Given the description of an element on the screen output the (x, y) to click on. 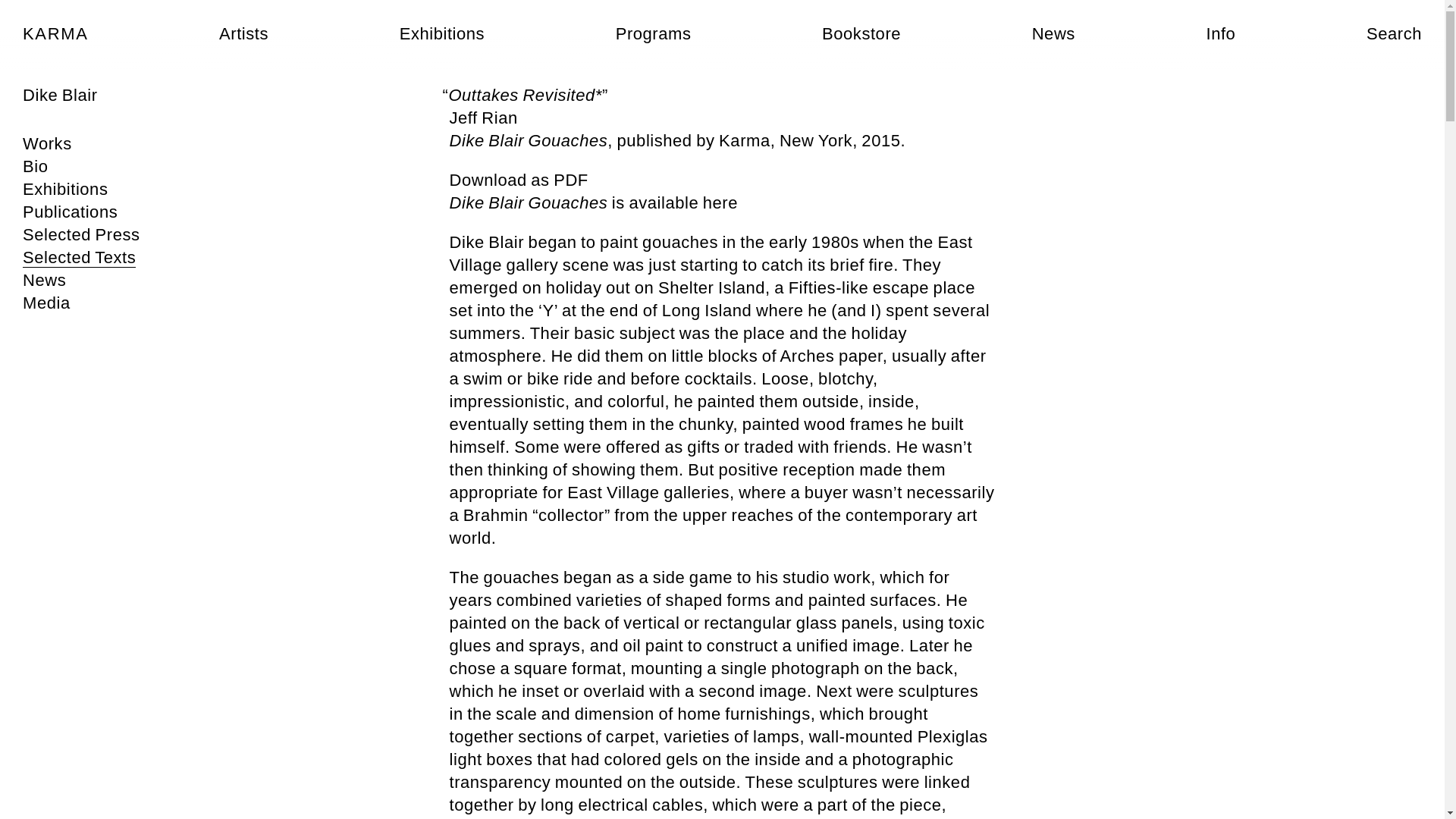
Dike Blair Gouaches is available here (593, 202)
News (1053, 34)
Selected Press (81, 234)
KARMA (55, 33)
Media (46, 302)
Works (47, 143)
Programs (653, 34)
Bookstore (861, 34)
Info (1219, 34)
Exhibitions (65, 189)
Selected Texts (79, 257)
News (44, 280)
Bio (35, 166)
Artists (243, 34)
Publications (70, 211)
